Given the description of an element on the screen output the (x, y) to click on. 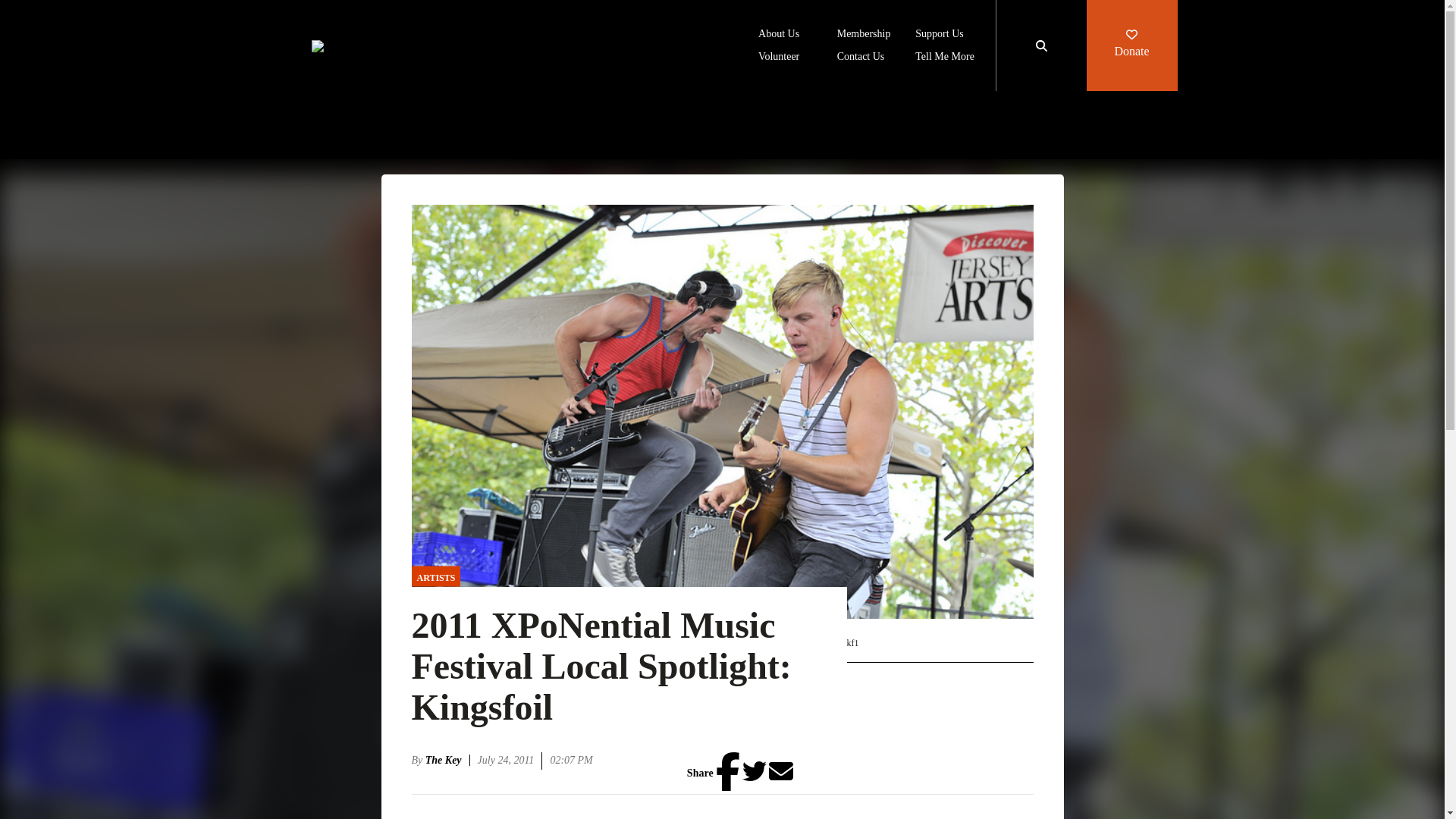
Tell Me More (944, 57)
Membership (864, 35)
Volunteer (778, 57)
Contact Us (861, 57)
About Us (778, 35)
Donate (1131, 45)
The Key (447, 759)
Support Us (938, 35)
